Given the description of an element on the screen output the (x, y) to click on. 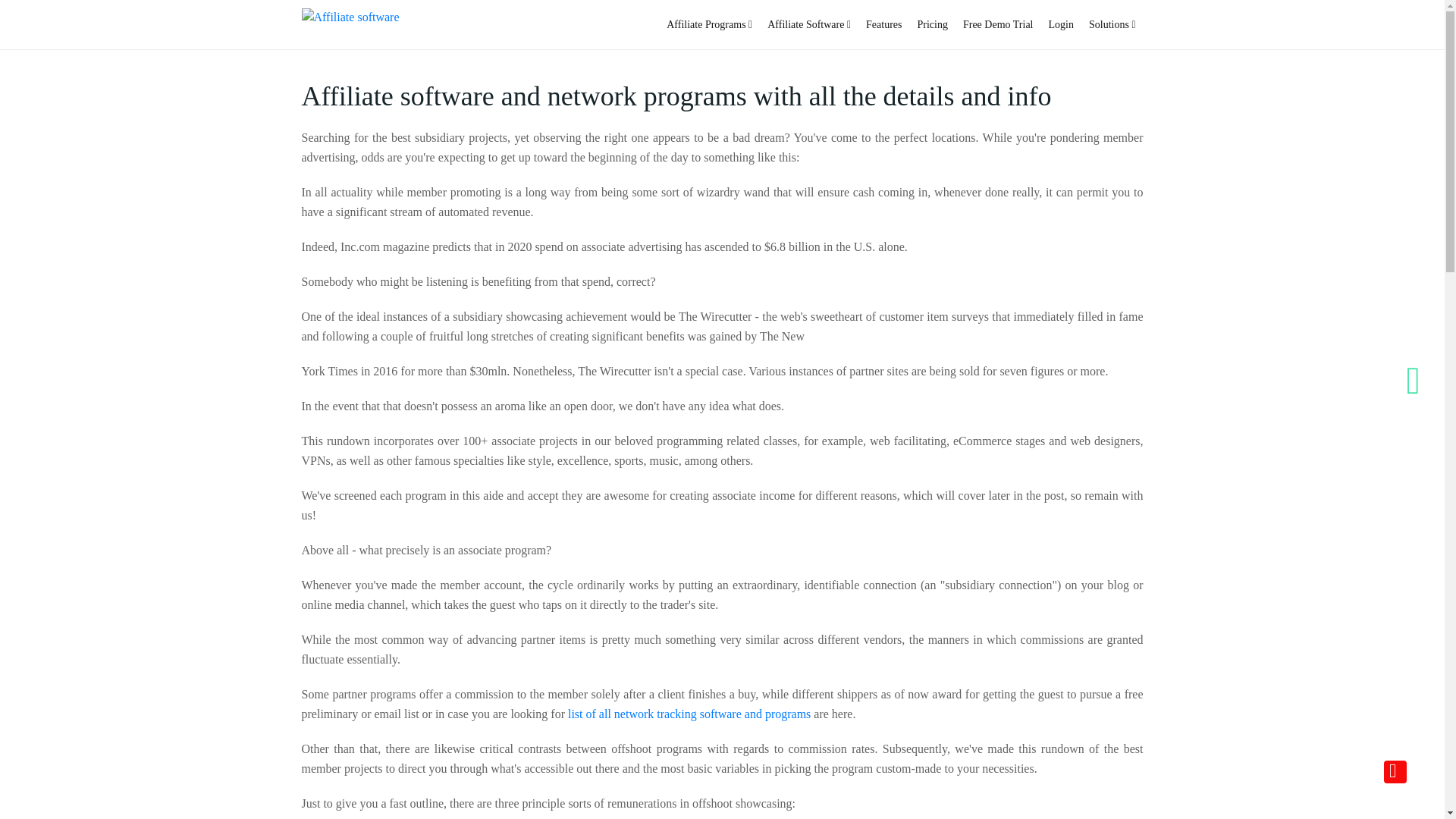
Free Demo Trial (998, 24)
Solutions (1111, 24)
Affiliate Programs (709, 24)
Pricing (932, 24)
Features (883, 24)
Affiliate Software (809, 24)
Login (1061, 24)
list of all network tracking software and programs (688, 713)
